Given the description of an element on the screen output the (x, y) to click on. 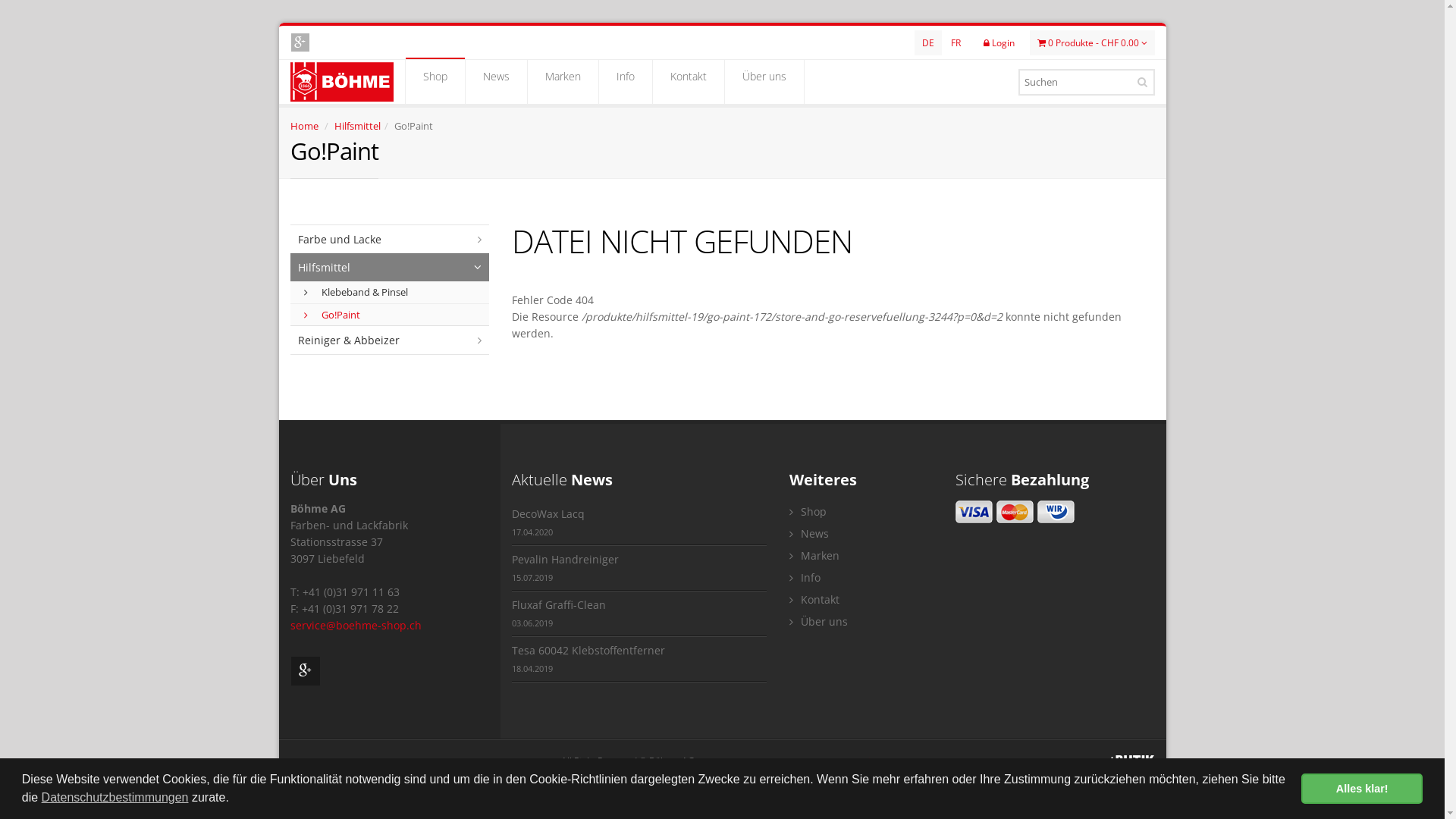
Impressum Element type: text (753, 760)
FR Element type: text (955, 42)
Pevalin Handreiniger
15.07.2019 Element type: text (638, 568)
Kontakt
  Element type: text (687, 81)
Fluxaf Graffi-Clean
03.06.2019 Element type: text (638, 613)
Farbe und Lacke Element type: text (389, 239)
Home Element type: text (303, 125)
Marken
  Element type: text (562, 81)
Shop
  Element type: text (434, 81)
Alles klar! Element type: text (1361, 788)
Info
  Element type: text (625, 81)
Hilfsmittel Element type: text (356, 125)
Versand Element type: text (798, 760)
DecoWax Lacq
17.04.2020 Element type: text (638, 522)
0 Produkte - CHF 0.00 Element type: text (1091, 42)
Hilfsmittel Element type: text (389, 267)
service@boehme-shop.ch Element type: text (354, 625)
Marken Element type: text (860, 555)
News
  Element type: text (496, 81)
AGB Element type: text (713, 760)
DE Element type: text (927, 42)
Reiniger & Abbeizer Element type: text (389, 340)
Shop Element type: text (860, 511)
Links Element type: text (872, 760)
Login Element type: text (998, 42)
Info Element type: text (860, 577)
Klebeband & Pinsel Element type: text (389, 292)
Kontakt Element type: text (860, 599)
Datenschutzbestimmungen Element type: text (114, 797)
Skip to main content Element type: text (277, 21)
Kontakt Element type: text (838, 760)
Go!Paint Element type: text (389, 315)
News Element type: text (860, 533)
Tesa 60042 Klebstoffentferner
18.04.2019 Element type: text (638, 659)
